Given the description of an element on the screen output the (x, y) to click on. 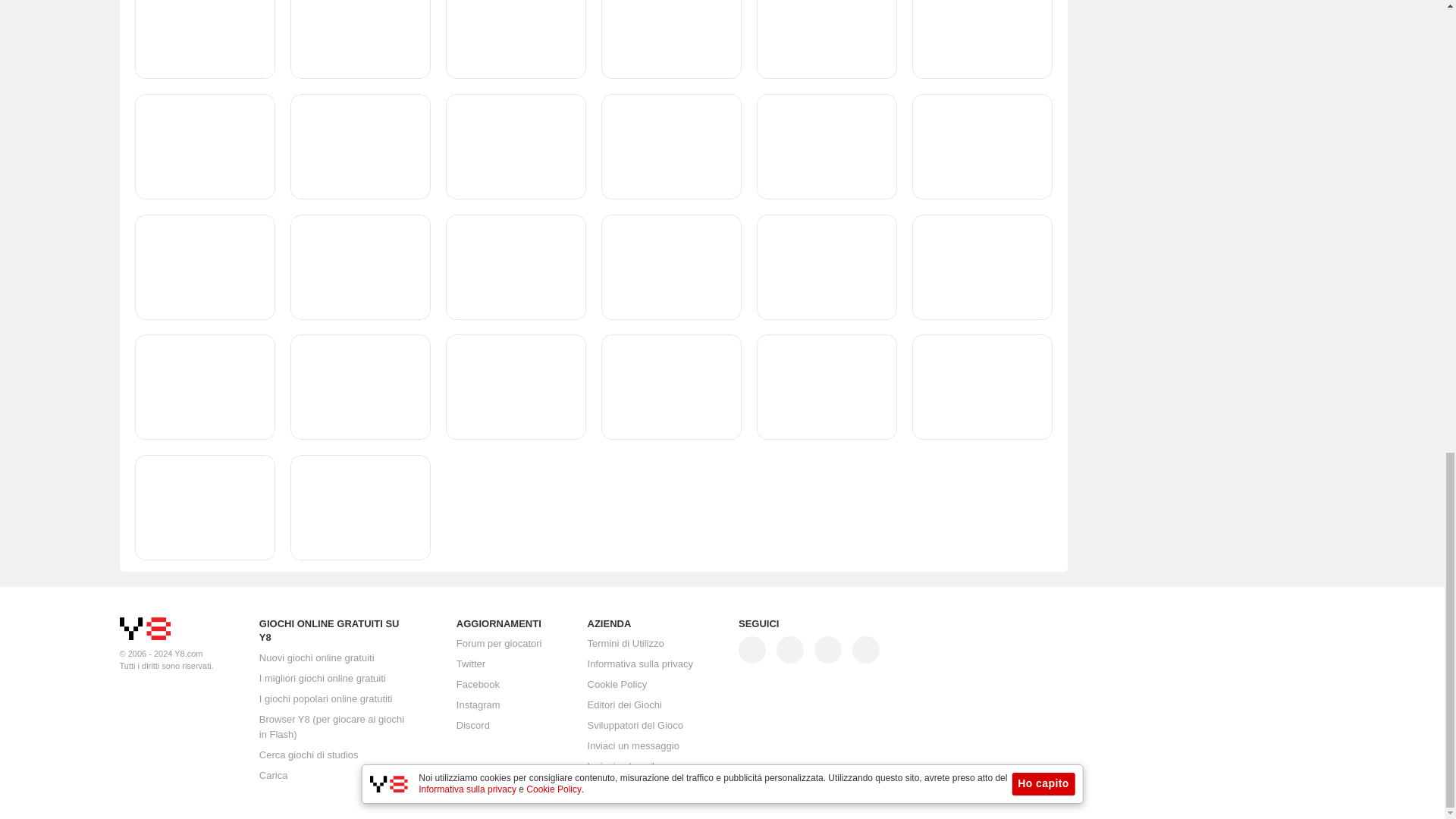
Cookie Policy (617, 684)
Caricqa il Tuo Contenuto su Y8 (273, 775)
Termini di Utilizzo (625, 644)
Sii il primo a giocare ai nuovi giochi online gratuiti! (316, 657)
Scaricate Y8 Browser (331, 726)
Informativa sulla privacy (640, 664)
